Given the description of an element on the screen output the (x, y) to click on. 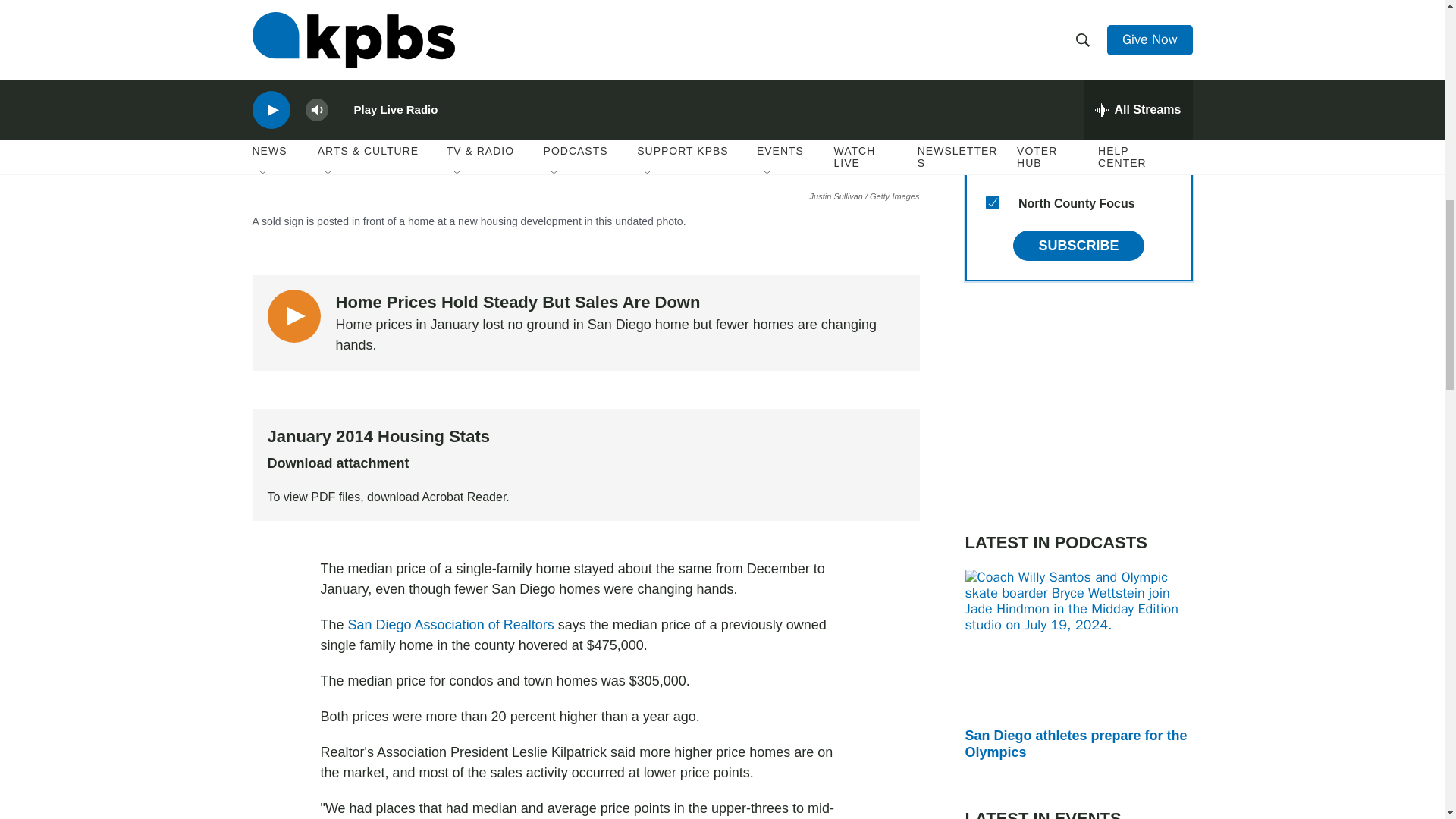
8 (991, 165)
2 (991, 92)
6 (991, 56)
1 (991, 129)
15 (991, 202)
5 (991, 20)
